Given the description of an element on the screen output the (x, y) to click on. 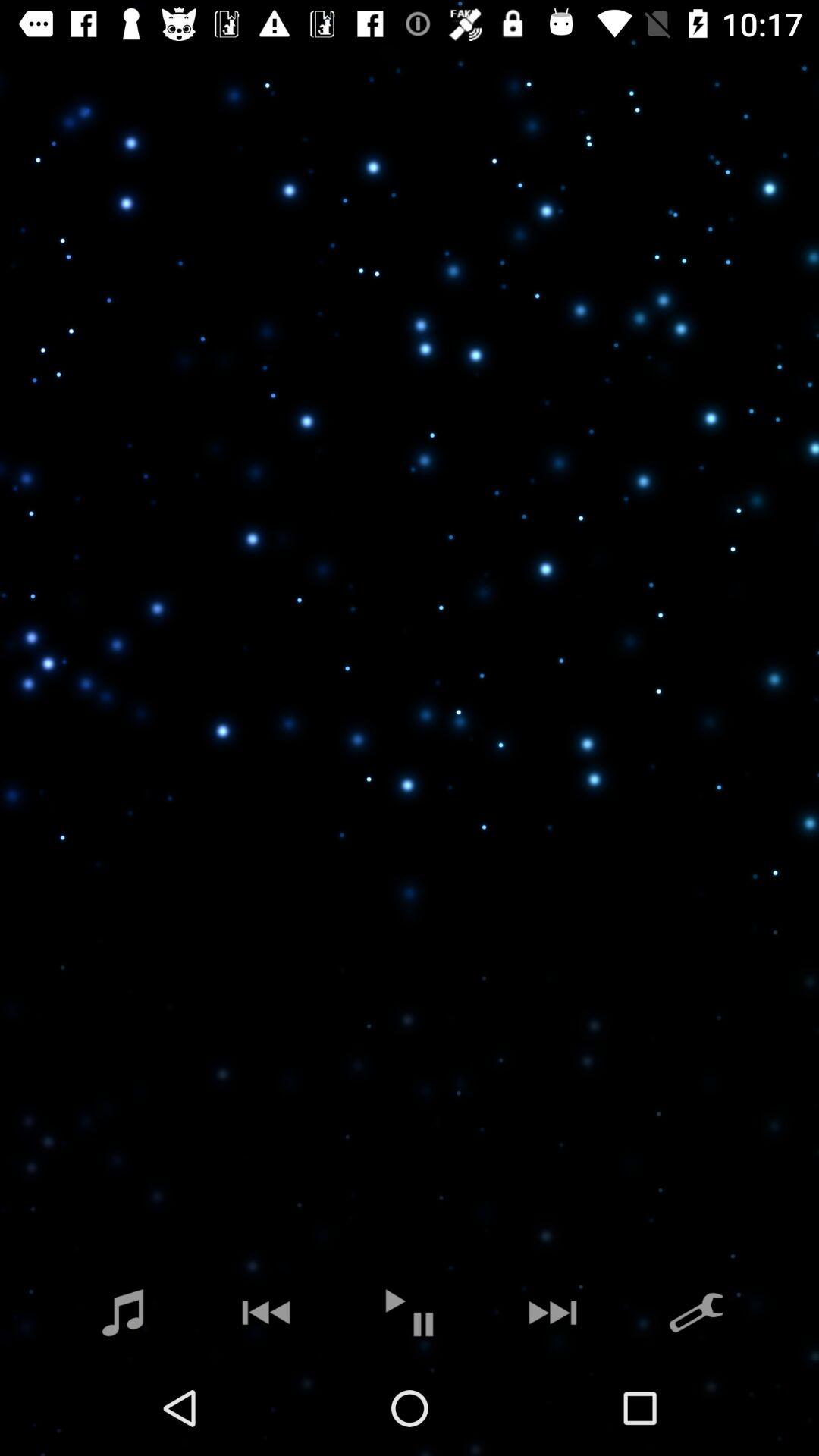
select the item at the bottom (409, 1312)
